Given the description of an element on the screen output the (x, y) to click on. 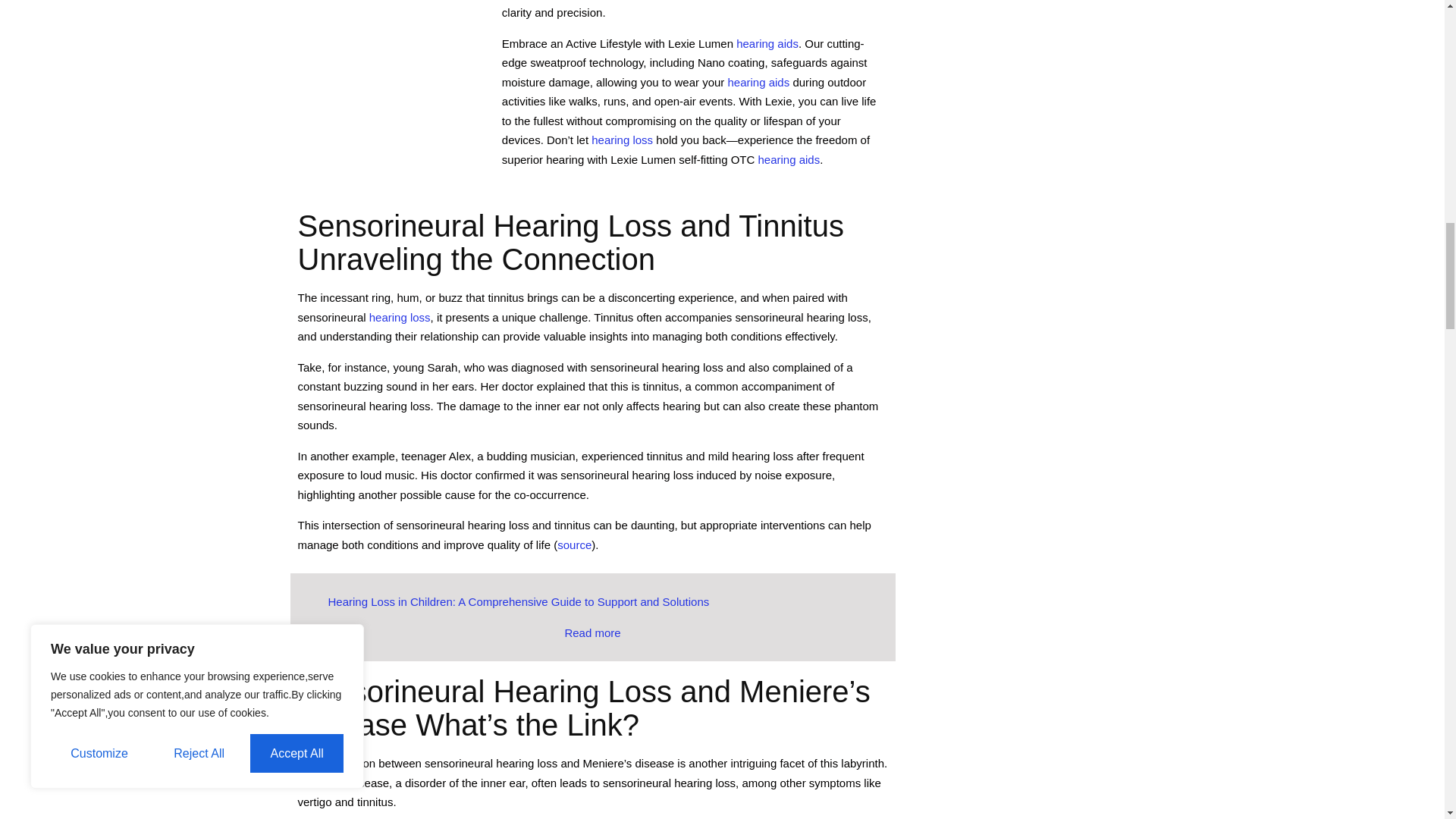
otofonix hearing aid solutions (757, 82)
hearing (399, 317)
hearing (621, 139)
otofonix hearing aid solutions (766, 42)
otofonix hearing aid solutions (788, 159)
Hearing Loss in Children (592, 632)
